Given the description of an element on the screen output the (x, y) to click on. 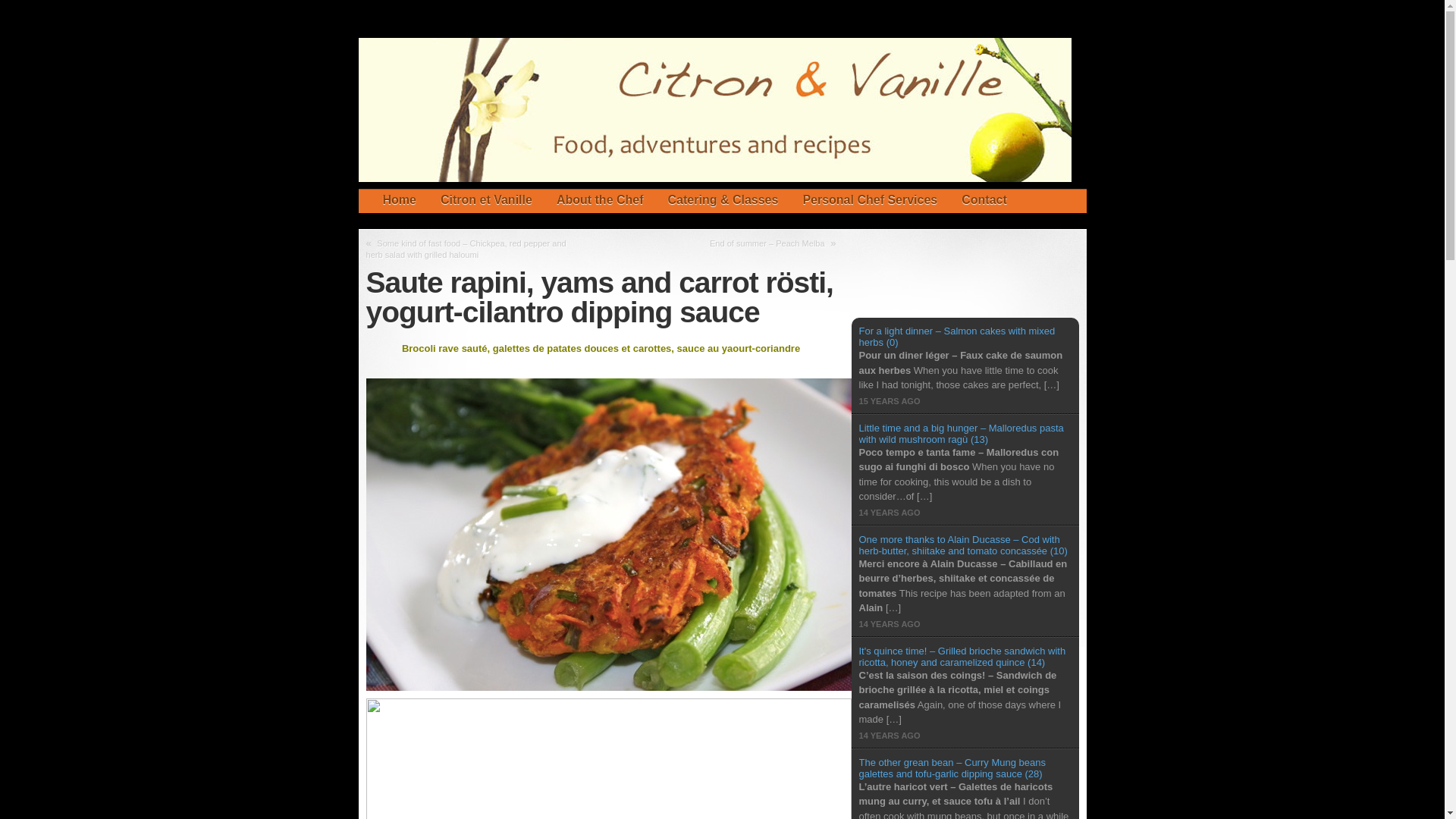
Contact (983, 200)
Citron et Vanille (486, 200)
yamgalette2 (607, 758)
Home Page (392, 200)
Personal Chef Services (869, 200)
undefined (1050, 189)
About the Chef (599, 200)
Home (392, 200)
RSS (998, 189)
